Given the description of an element on the screen output the (x, y) to click on. 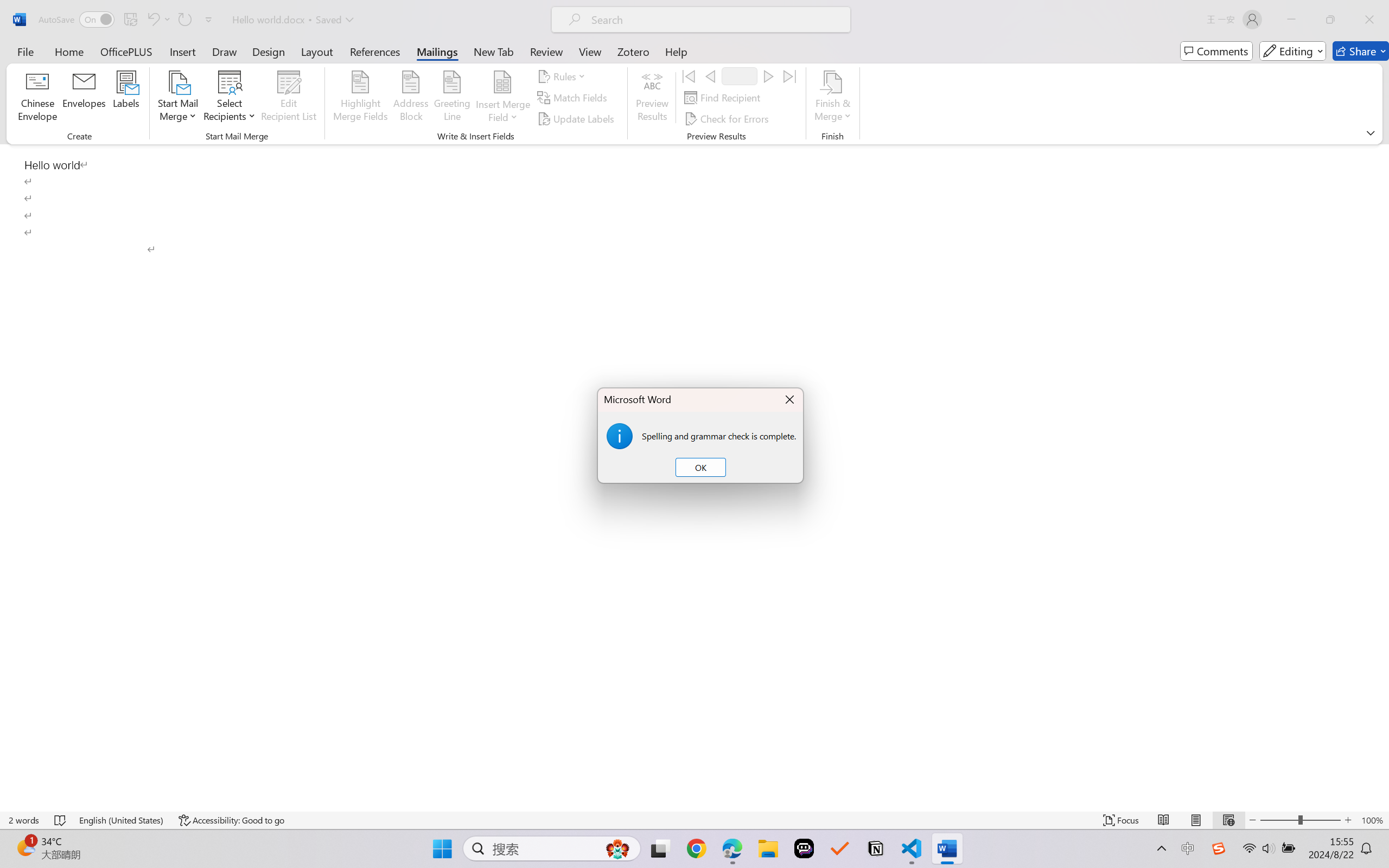
Chinese Envelope... (37, 97)
Microsoft search (715, 19)
Print Layout (1196, 819)
Focus  (1121, 819)
OfficePLUS (126, 51)
Spelling and Grammar Check No Errors (60, 819)
Quick Access Toolbar (127, 19)
References (375, 51)
Zoom (1300, 819)
Read Mode (1163, 819)
Find Recipient... (723, 97)
Save (130, 19)
Zoom 100% (1372, 819)
